Given the description of an element on the screen output the (x, y) to click on. 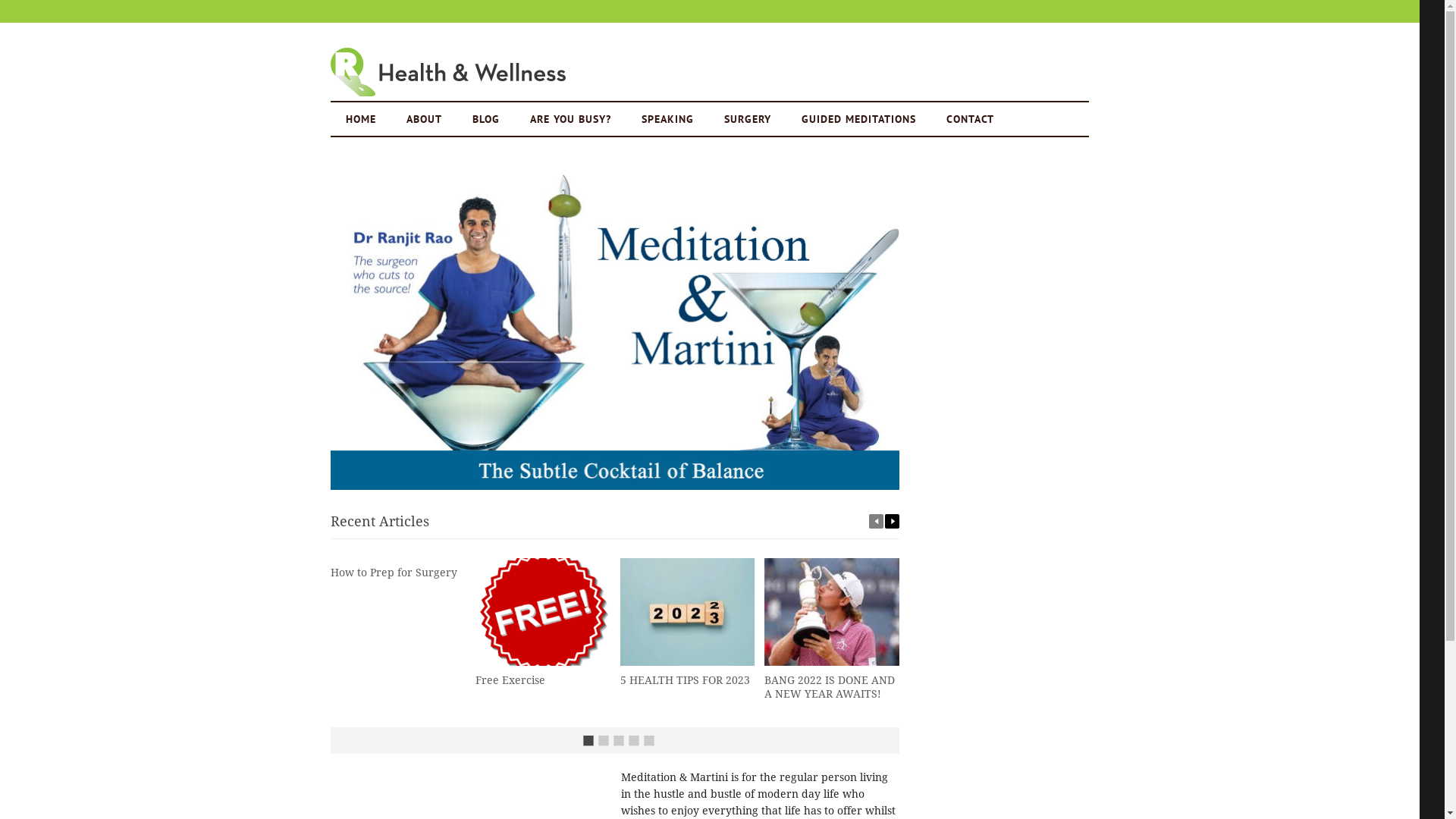
ABOUT Element type: text (424, 118)
How to Prep for Surgery Element type: text (393, 572)
5 HEALTH TIPS FOR 2023 Element type: text (684, 680)
meditation-slide Element type: hover (614, 326)
RR Health & Wellness Element type: hover (447, 71)
SPEAKING Element type: text (667, 118)
BANG 2022 IS DONE AND A NEW YEAR AWAITS! Element type: text (829, 686)
ARE YOU BUSY? Element type: text (570, 118)
Free Exercise Element type: text (510, 680)
SURGERY Element type: text (747, 118)
GUIDED MEDITATIONS Element type: text (858, 118)
HOME Element type: text (360, 118)
BLOG Element type: text (485, 118)
CONTACT Element type: text (970, 118)
